Given the description of an element on the screen output the (x, y) to click on. 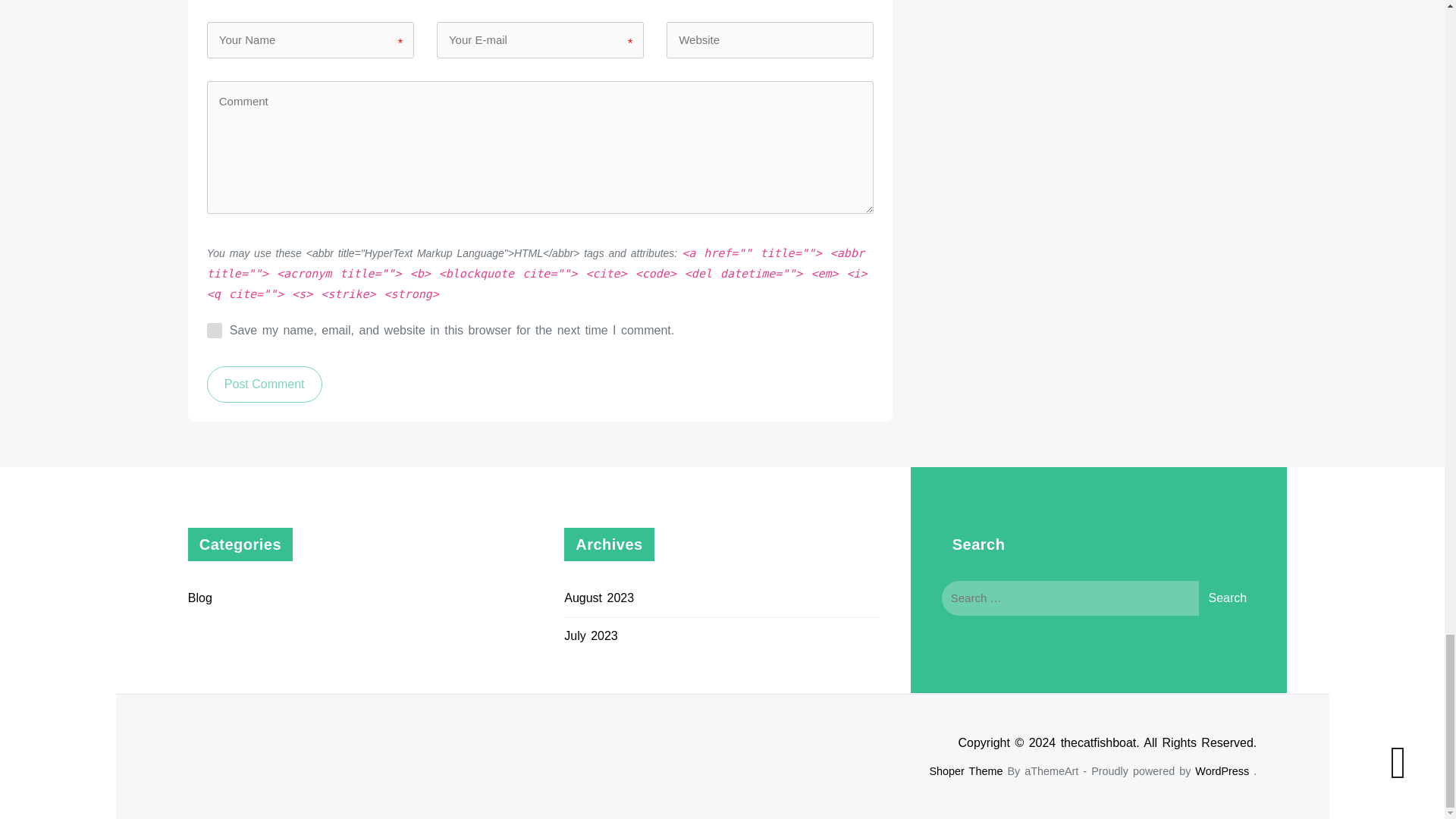
Shoper Theme (965, 770)
Search (1227, 597)
Blog (199, 597)
Post Comment (263, 384)
August 2023 (598, 597)
Search (1227, 597)
July 2023 (590, 635)
WordPress (1222, 770)
Search (1227, 597)
yes (214, 330)
